Given the description of an element on the screen output the (x, y) to click on. 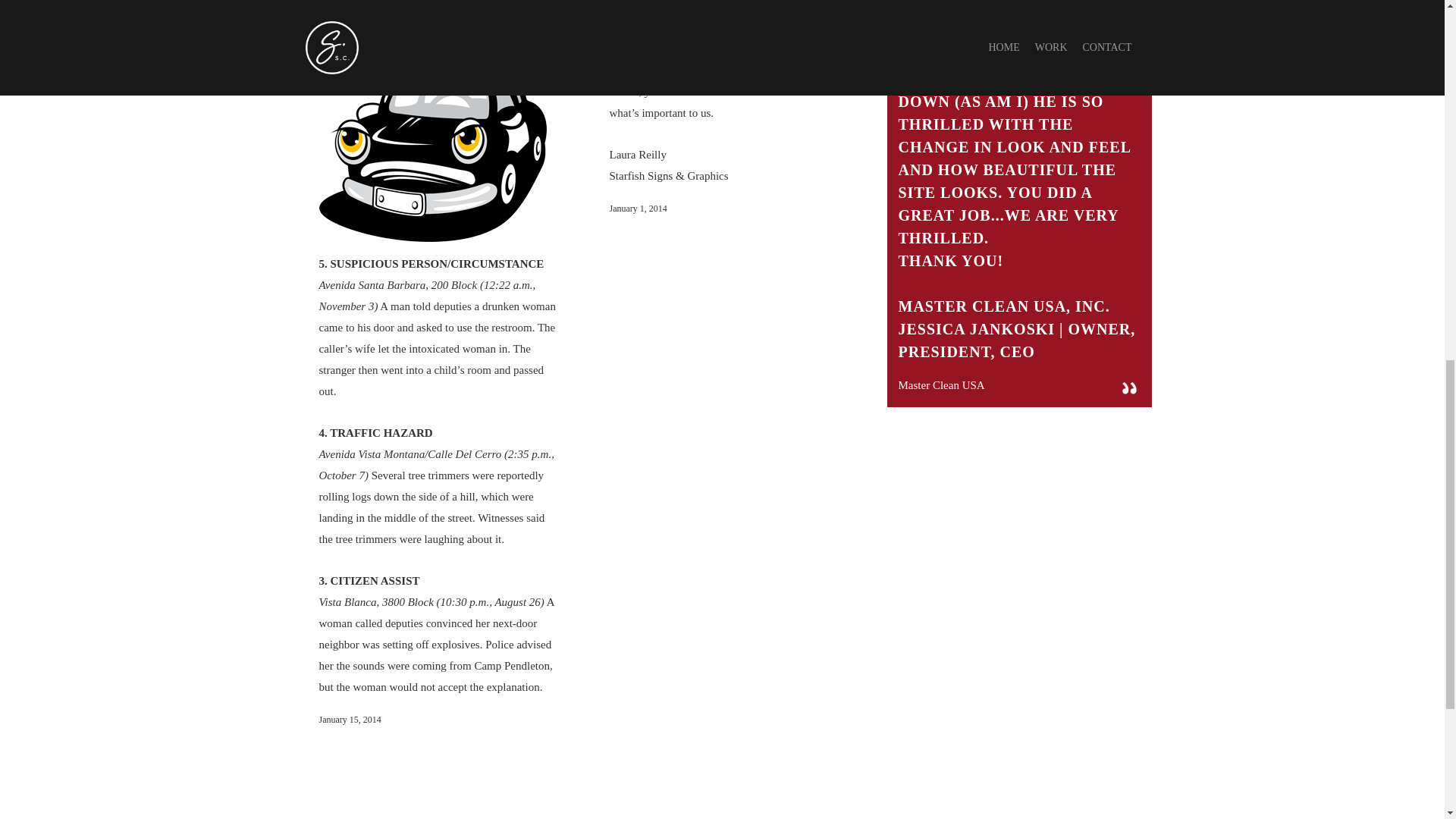
No Comments (740, 1)
SCWD (636, 1)
Testimonials (681, 1)
Posts by SCWD (636, 1)
